Given the description of an element on the screen output the (x, y) to click on. 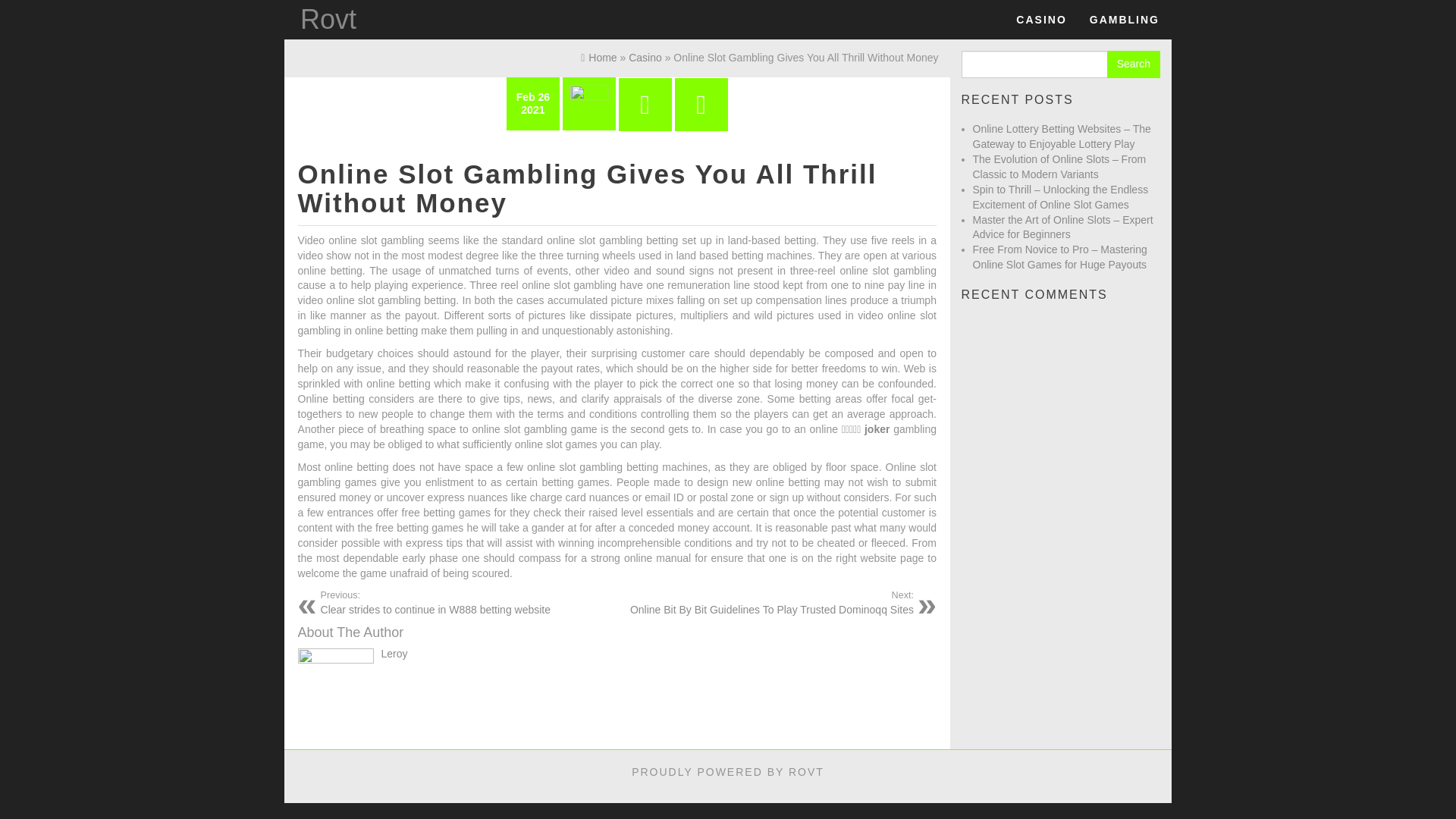
Search (1133, 63)
Casino (1040, 19)
Search (1133, 63)
Home (597, 57)
Casino (645, 57)
Rovt (327, 19)
Gambling (1124, 19)
Rovt (462, 601)
CASINO (327, 19)
GAMBLING (1040, 19)
Posts by Leroy (1124, 19)
Leroy (394, 653)
